Given the description of an element on the screen output the (x, y) to click on. 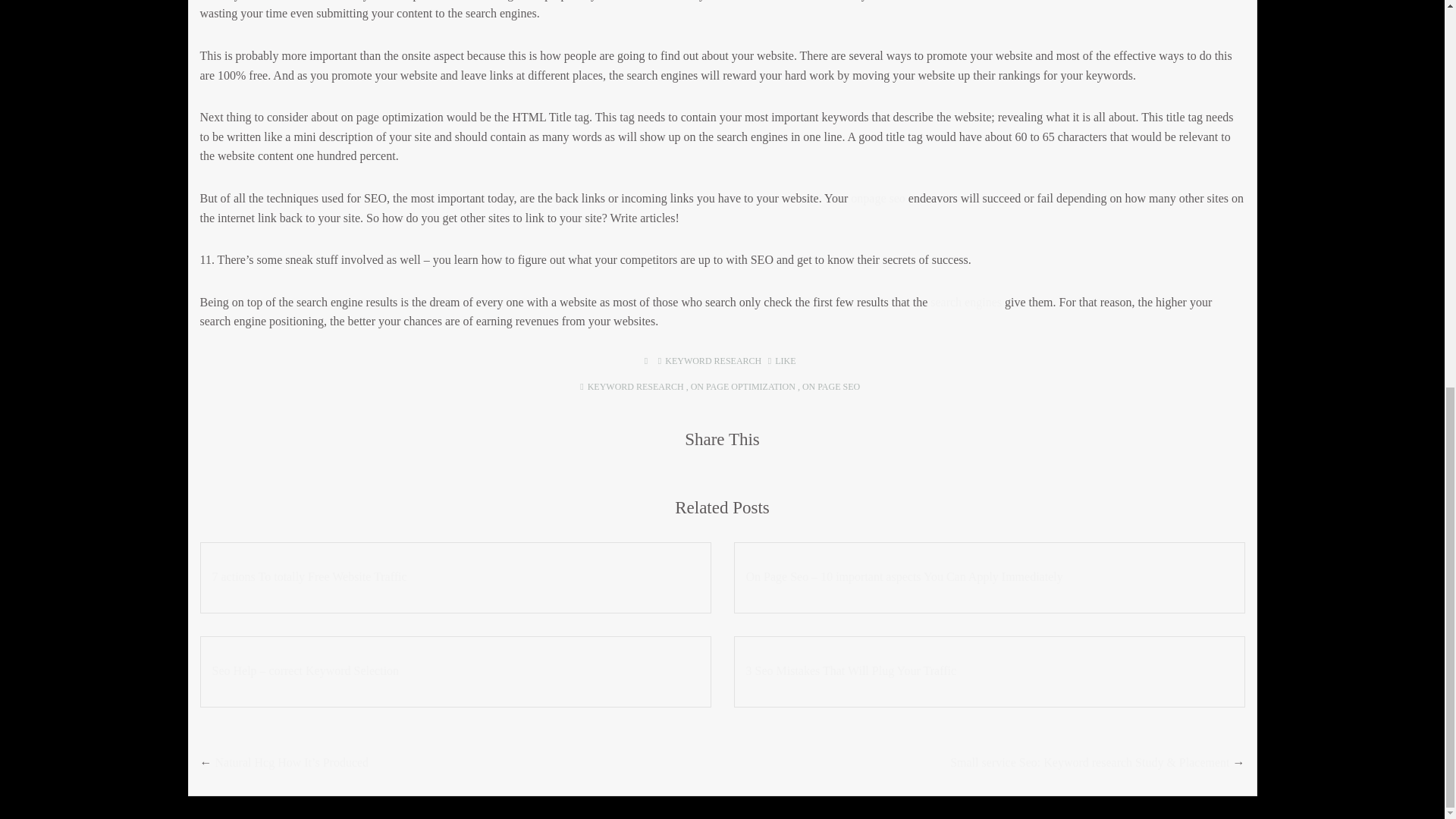
ON PAGE SEO (831, 386)
7 actions To totally Free Website Traffic (455, 576)
 LIKE (782, 360)
search engines (965, 301)
3 Seo Mistakes That Will Plug Your Traffic (989, 670)
onpage seo (877, 197)
3 Seo Mistakes That Will Plug Your Traffic (989, 670)
7 actions To totally Free Website Traffic (455, 576)
KEYWORD RESEARCH (636, 386)
Like (782, 360)
KEYWORD RESEARCH (713, 360)
ON PAGE OPTIMIZATION (742, 386)
